Given the description of an element on the screen output the (x, y) to click on. 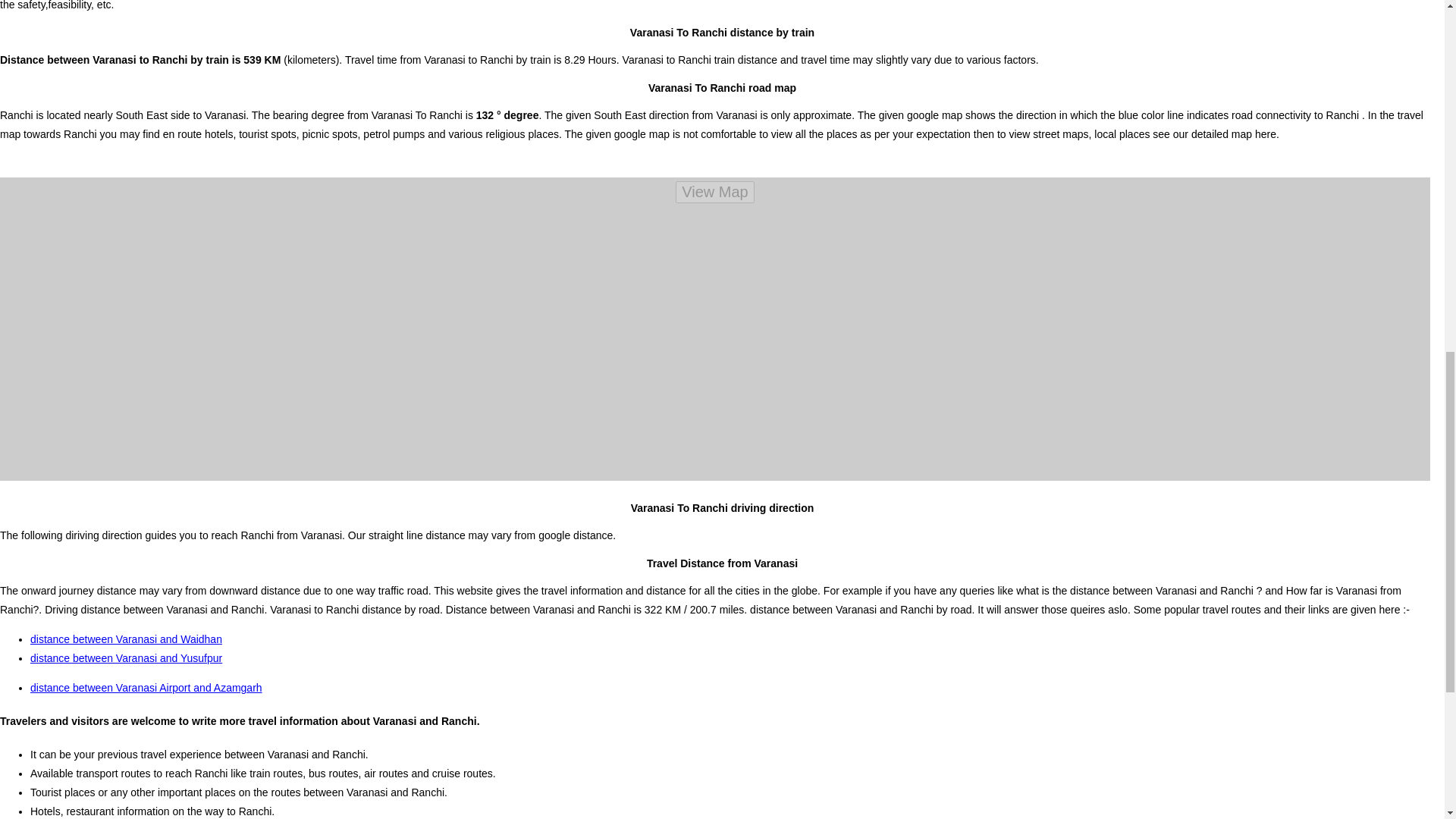
distance between Varanasi Airport and Azamgarh (146, 687)
distance between Varanasi and Yusufpur (126, 657)
View Map (714, 191)
distance between Varanasi and Waidhan (126, 639)
